Given the description of an element on the screen output the (x, y) to click on. 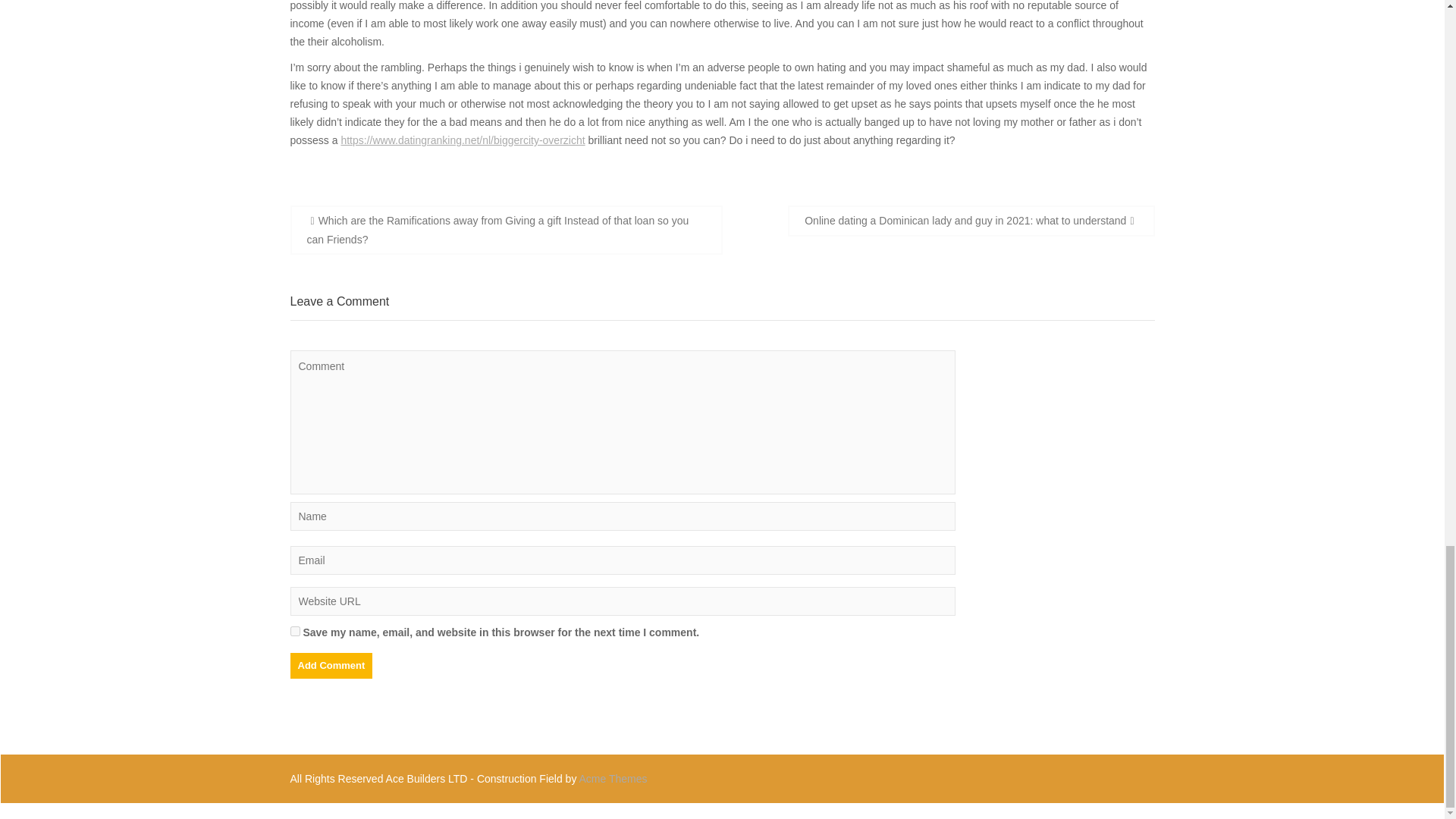
Add Comment (330, 665)
Add Comment (330, 665)
Acme Themes (613, 778)
yes (294, 631)
